Given the description of an element on the screen output the (x, y) to click on. 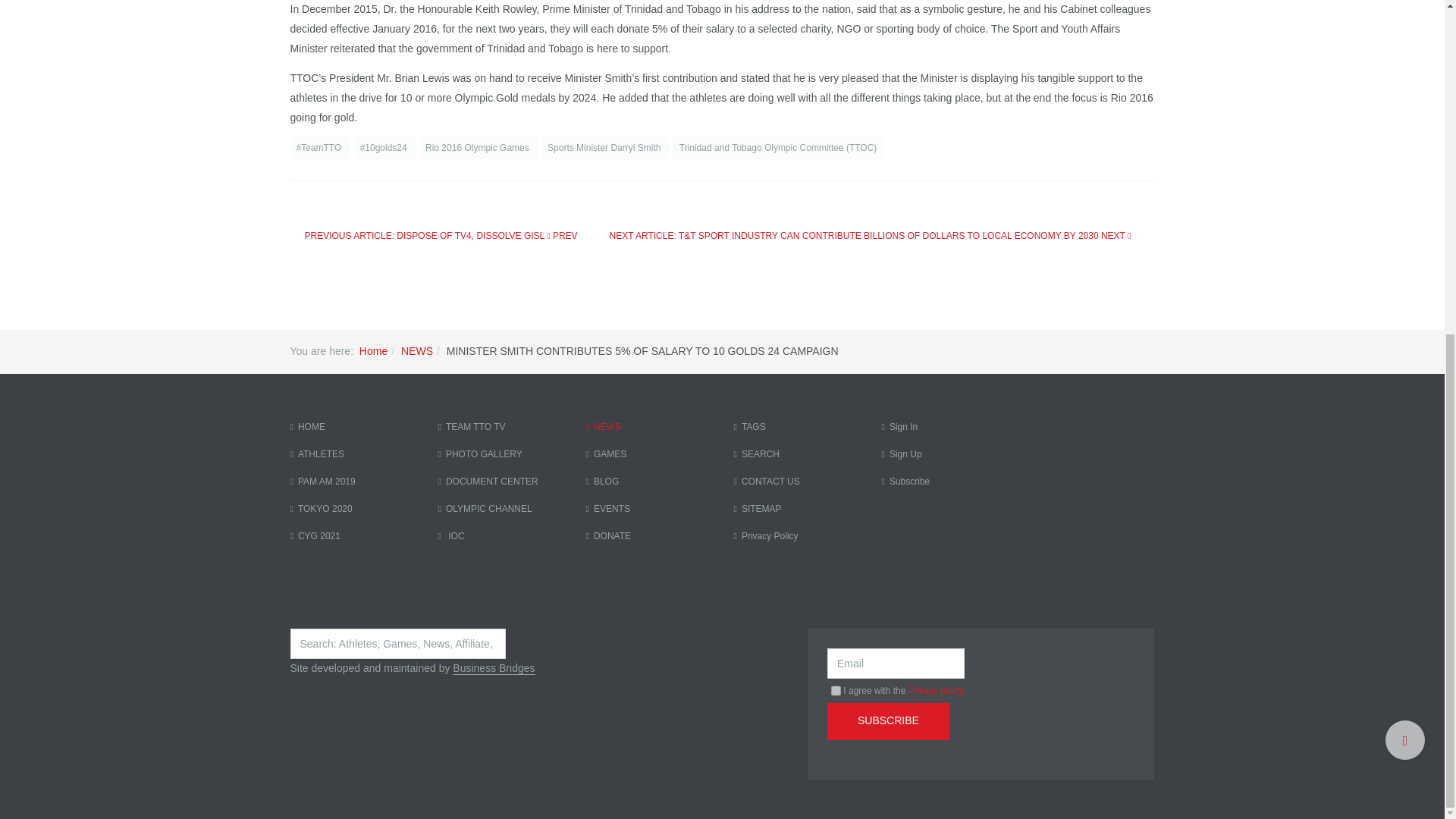
Terms and conditions (836, 690)
on (836, 690)
Subscribe (888, 721)
Business Bridges (493, 667)
Back to Top (1405, 179)
